Given the description of an element on the screen output the (x, y) to click on. 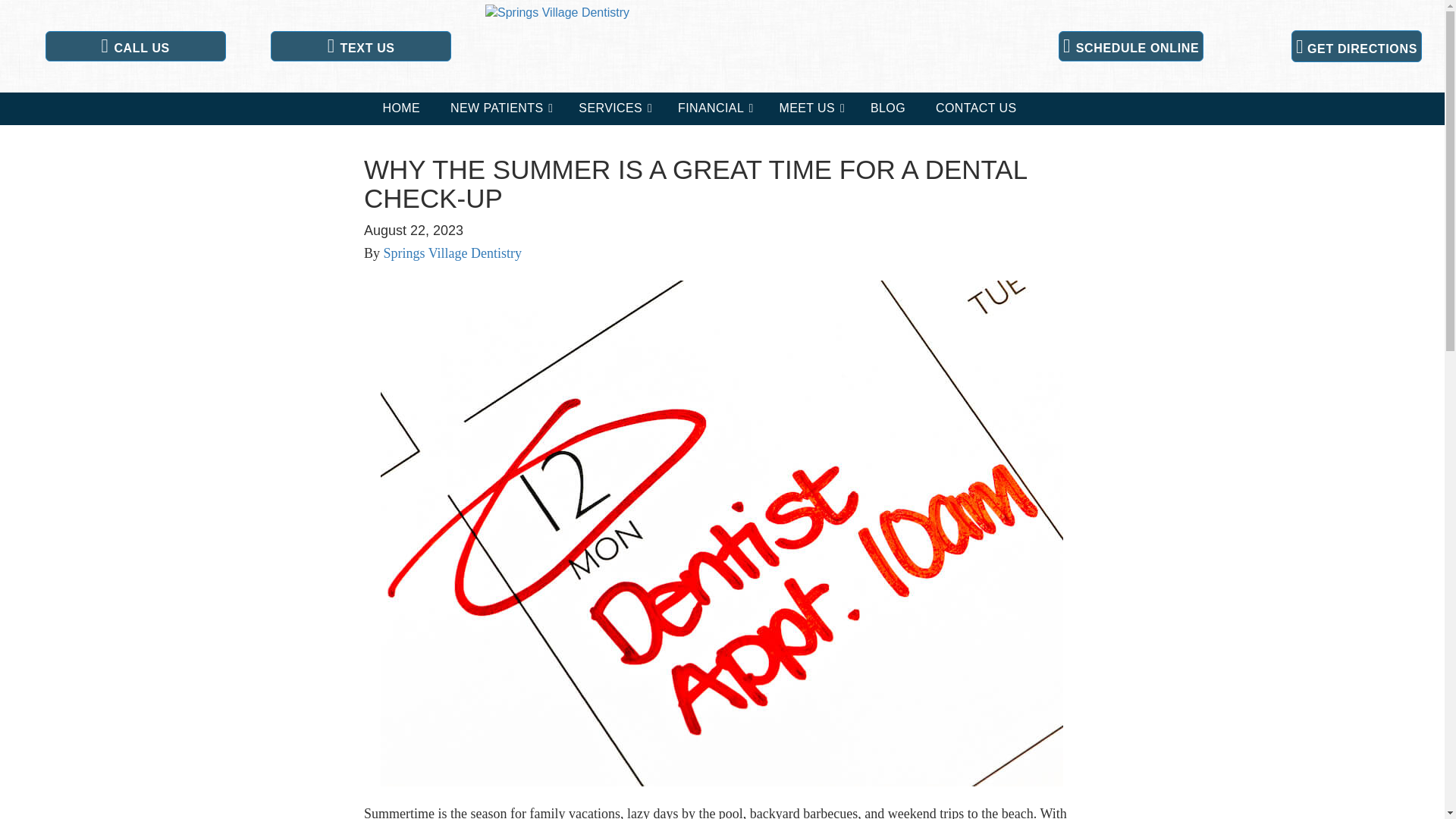
Home (400, 108)
GET DIRECTIONS (1356, 46)
TEXT US (360, 46)
NEW PATIENTS (499, 108)
CALL US (135, 46)
SCHEDULE ONLINE (1131, 46)
Services (612, 108)
HOME (400, 108)
New Patients (499, 108)
SERVICES (612, 108)
